Given the description of an element on the screen output the (x, y) to click on. 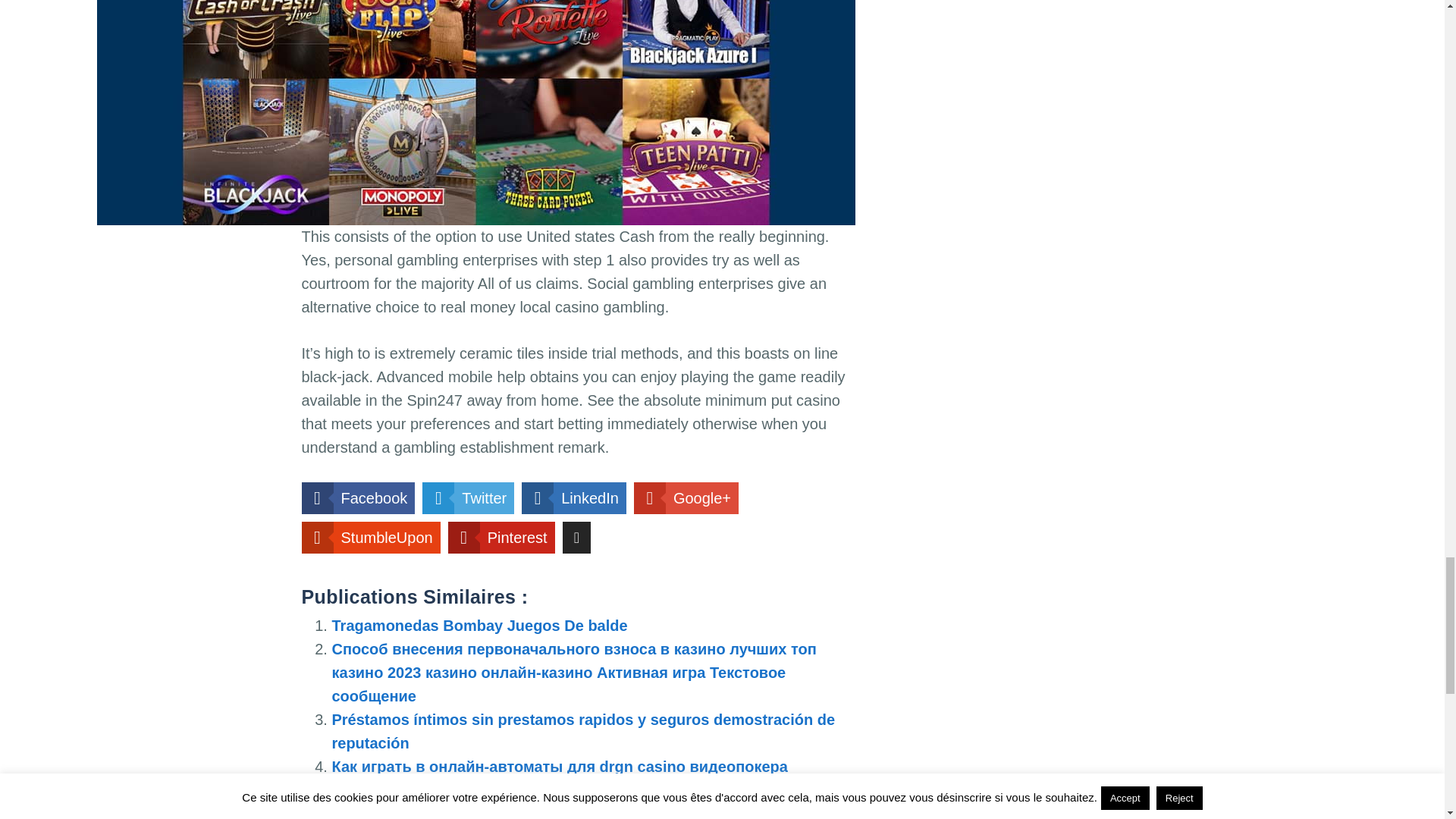
StumbleUpon (371, 537)
LinkedIn (573, 498)
Tragamonedas Bombay Juegos De balde (479, 625)
Facebook (357, 498)
Pinterest (501, 537)
Tragamonedas Bombay Juegos De balde (479, 625)
Twitter (467, 498)
